Given the description of an element on the screen output the (x, y) to click on. 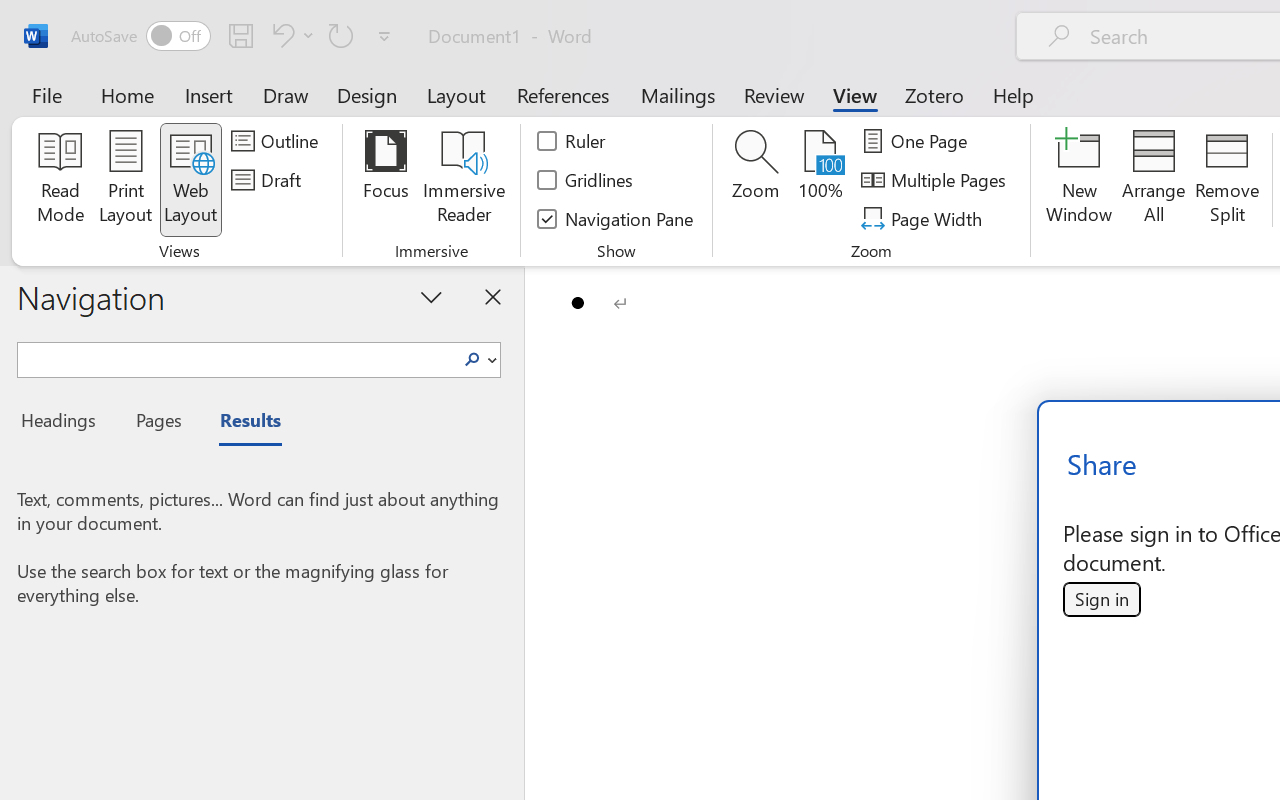
Navigation Pane (616, 218)
Gridlines (586, 179)
Headings (64, 423)
Outline (278, 141)
Arrange All (1153, 179)
Immersive Reader (464, 179)
Pages (156, 423)
Undo Bullet Default (290, 35)
Results (240, 423)
